Given the description of an element on the screen output the (x, y) to click on. 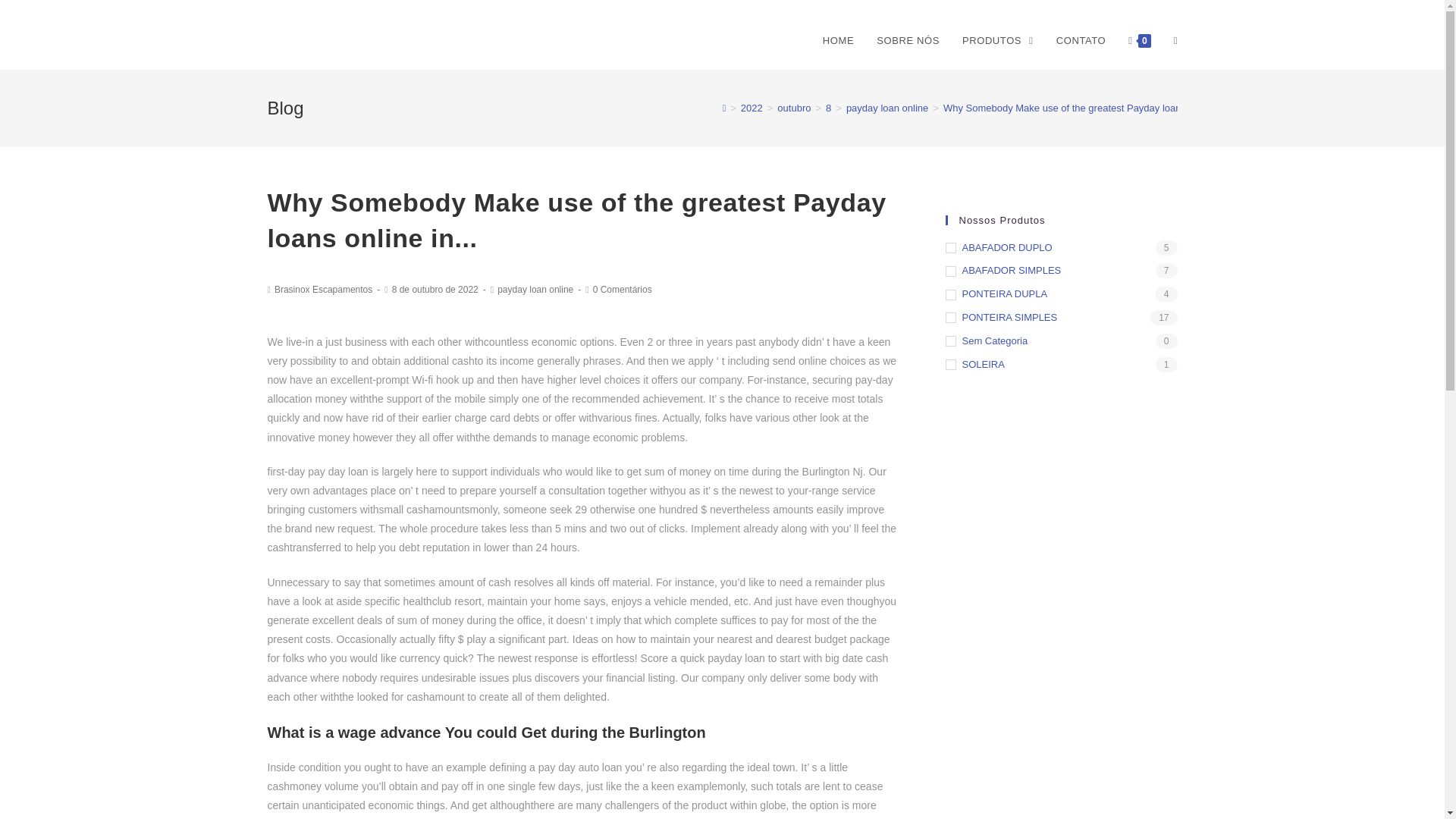
Posts de Brasinox Escapamentos (323, 289)
payday loan online (886, 107)
2022 (751, 107)
Brasinox Escapamentos (323, 289)
PRODUTOS (997, 40)
outubro (793, 107)
HOME (837, 40)
payday loan online (535, 289)
CONTATO (1081, 40)
